Given the description of an element on the screen output the (x, y) to click on. 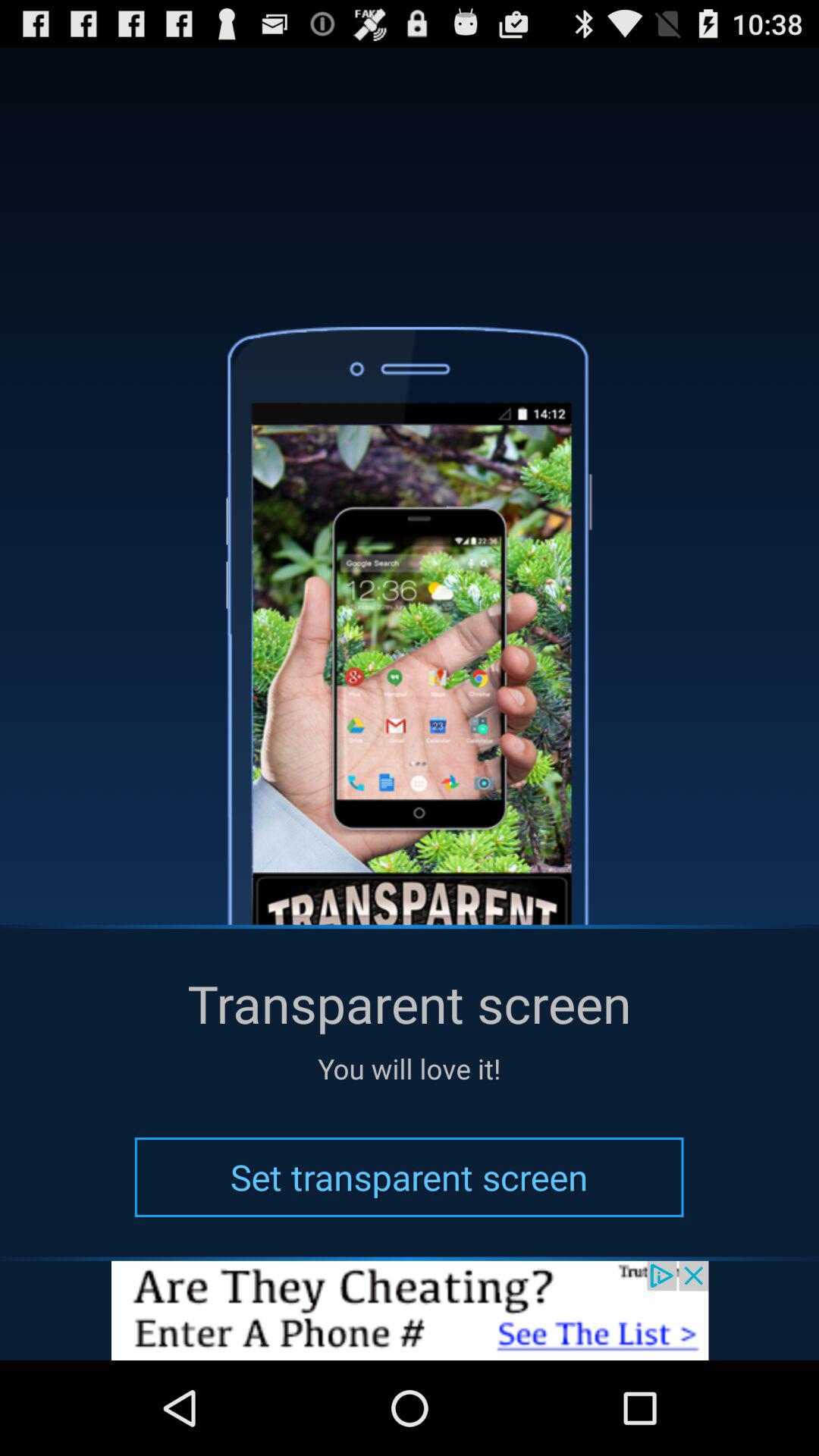
mention page are going this button (409, 1310)
